Given the description of an element on the screen output the (x, y) to click on. 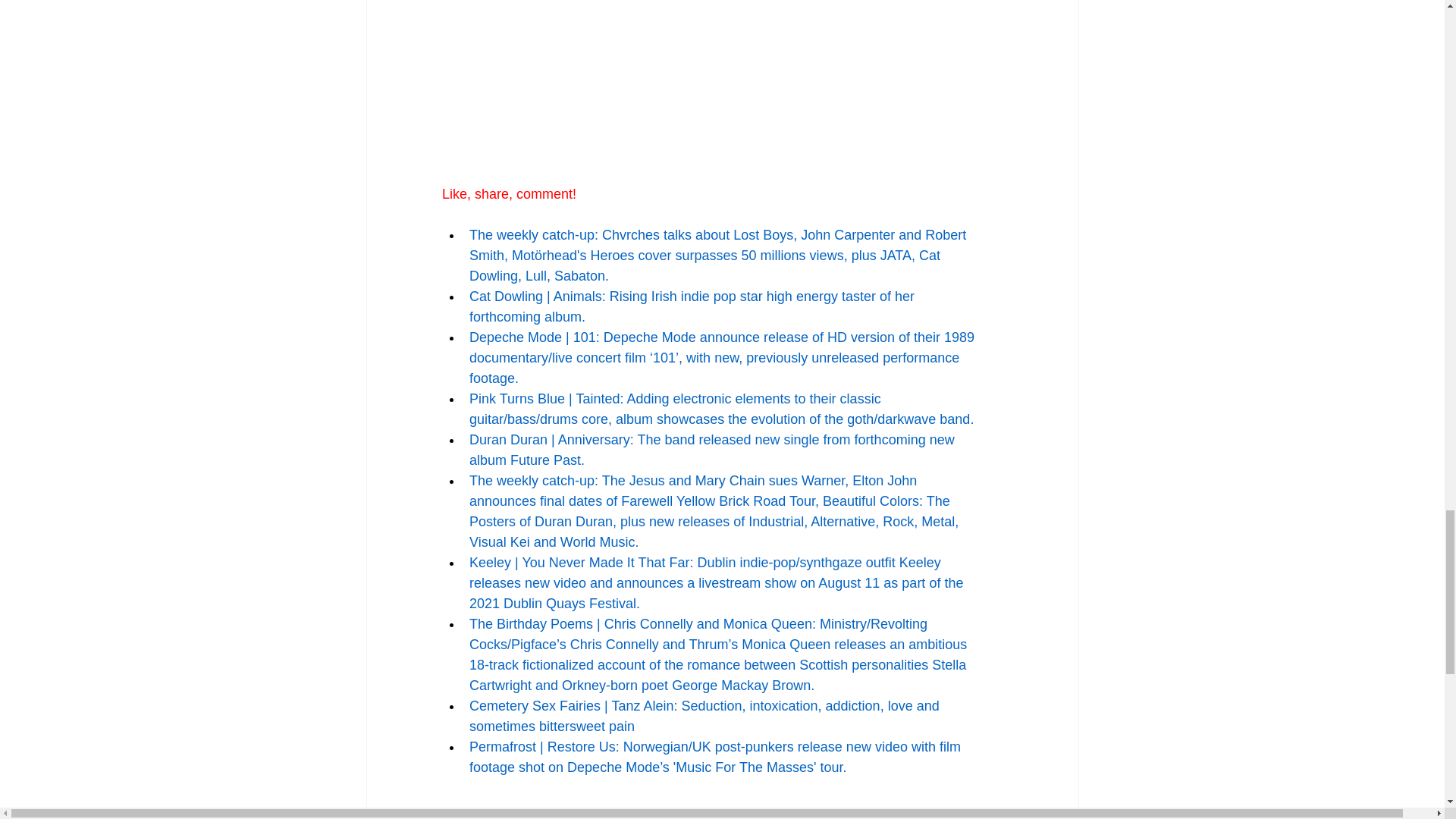
Indie Rock (644, 816)
Post-Punk (570, 816)
New Releases (485, 816)
